Given the description of an element on the screen output the (x, y) to click on. 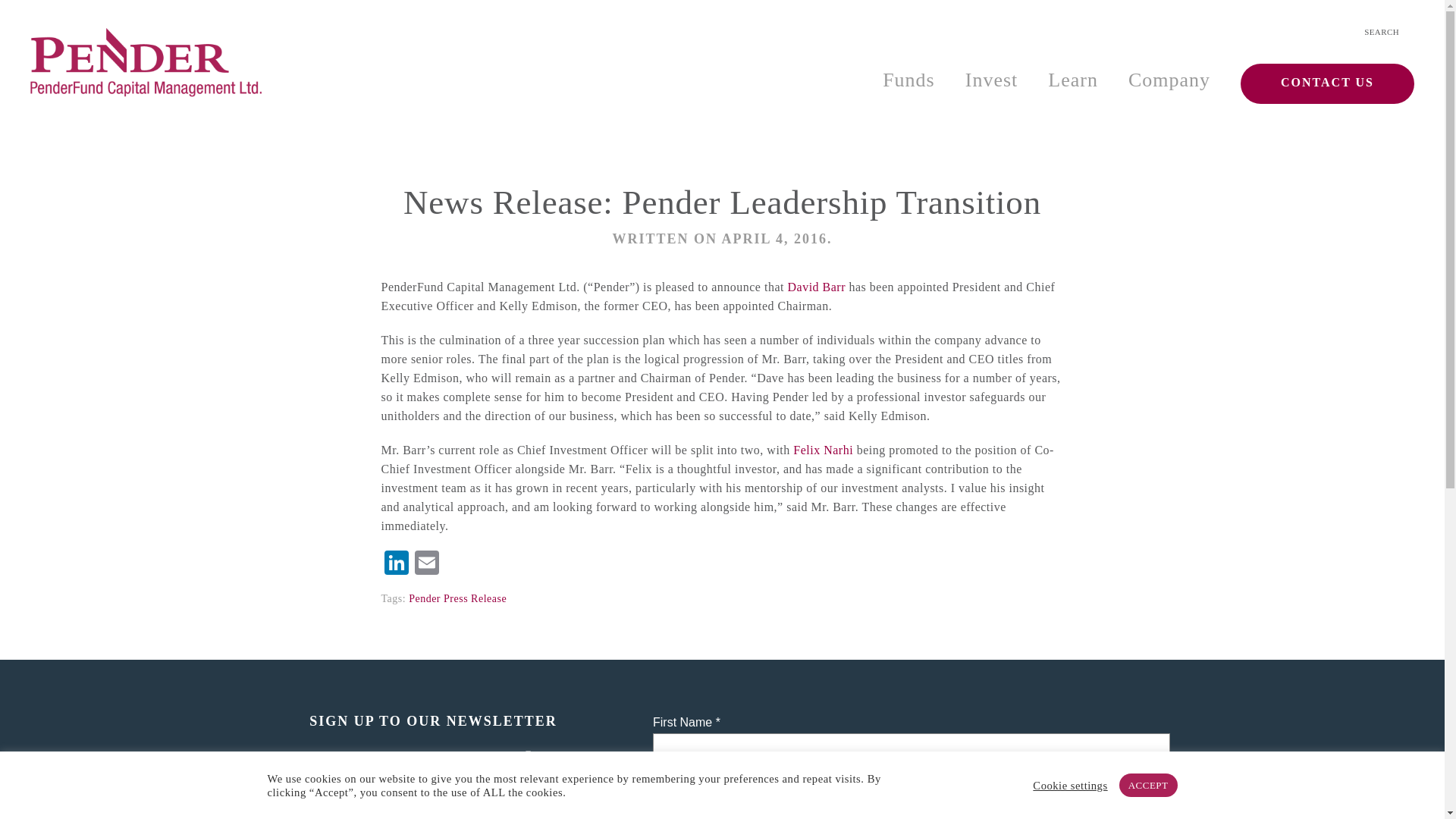
Invest (991, 79)
SEARCH (1381, 31)
Email (425, 564)
Learn (1072, 79)
LinkedIn (395, 564)
Funds (908, 79)
